Given the description of an element on the screen output the (x, y) to click on. 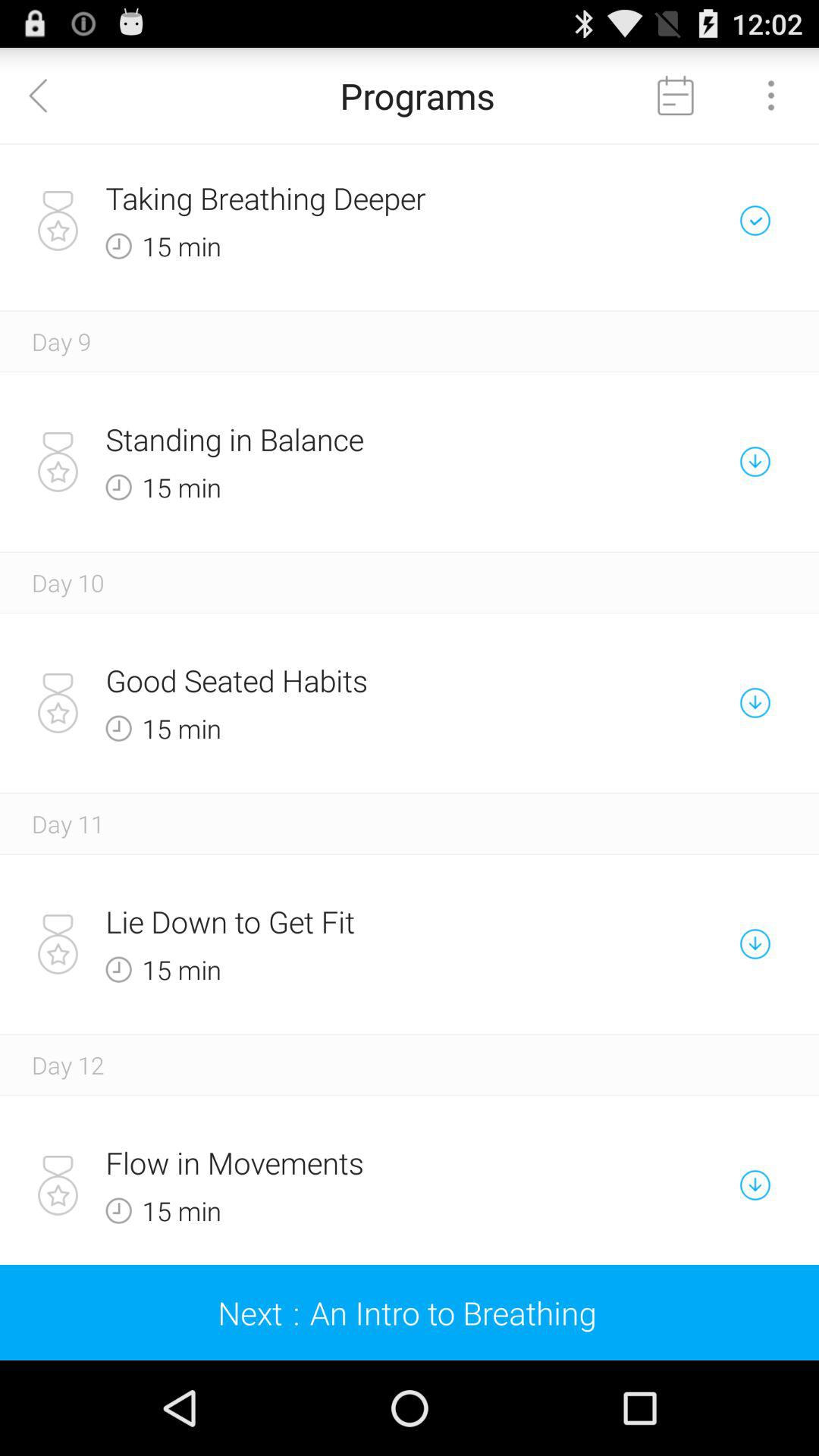
open calendar (675, 95)
